Given the description of an element on the screen output the (x, y) to click on. 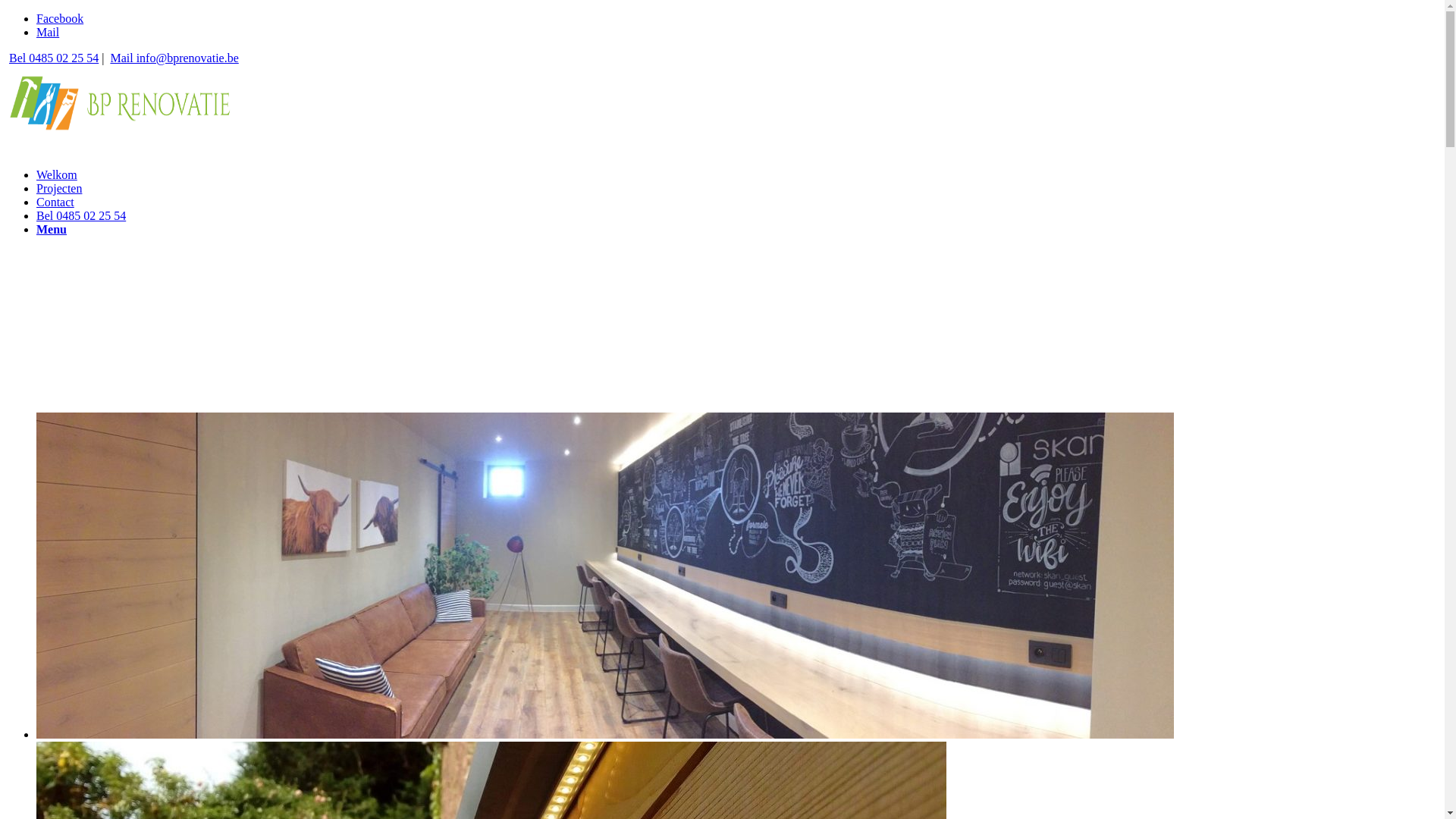
Welkom Element type: text (56, 174)
slider (3) Element type: hover (604, 575)
Facebook Element type: text (59, 18)
Mail Element type: text (47, 31)
Bel 0485 02 25 54 Element type: text (80, 215)
Projecten Element type: text (58, 188)
Contact Element type: text (55, 201)
Mail info@bprenovatie.be Element type: text (172, 57)
Menu Element type: text (51, 228)
Bel 0485 02 25 54 Element type: text (52, 57)
